Given the description of an element on the screen output the (x, y) to click on. 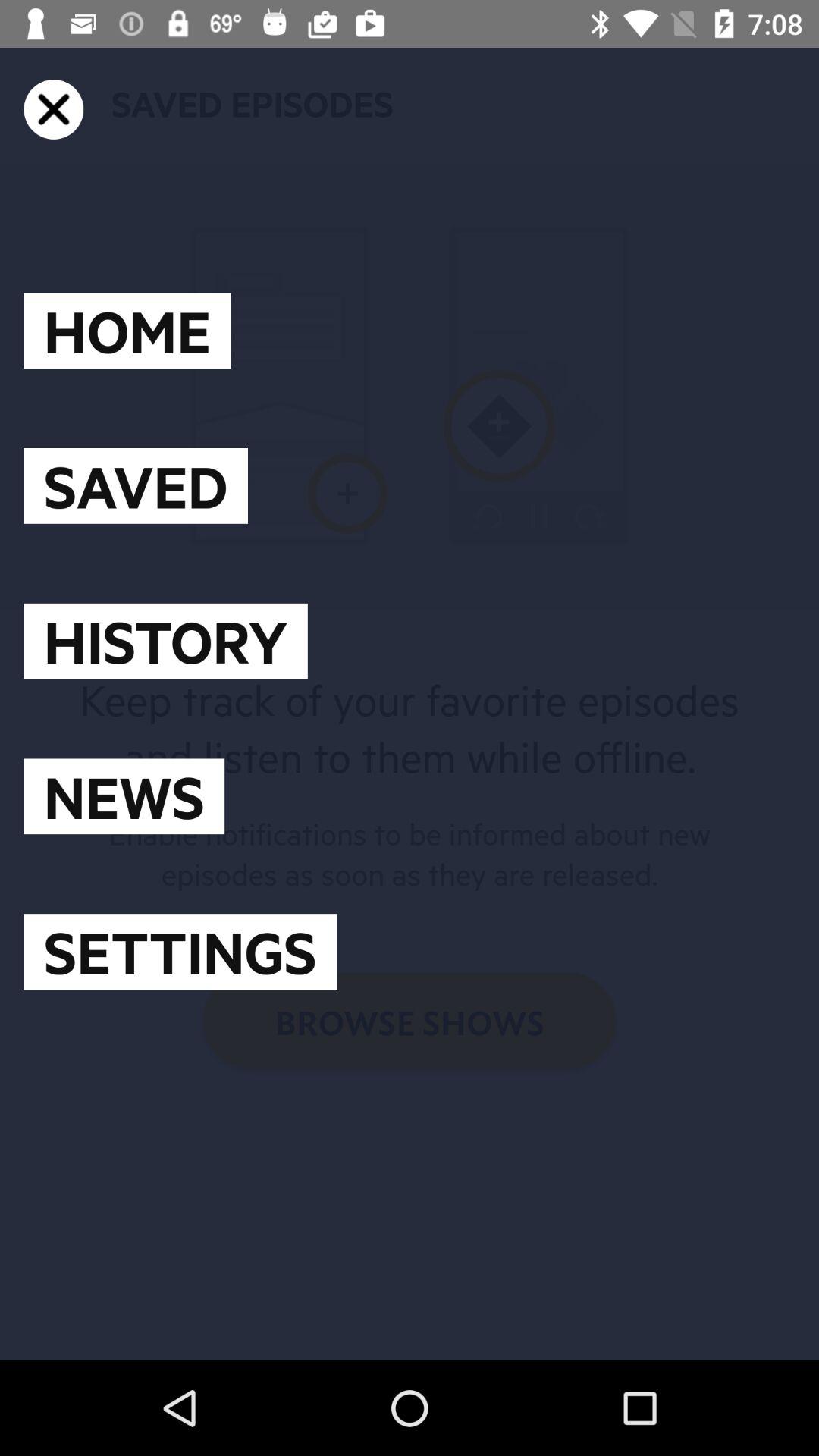
flip until the history item (165, 641)
